Given the description of an element on the screen output the (x, y) to click on. 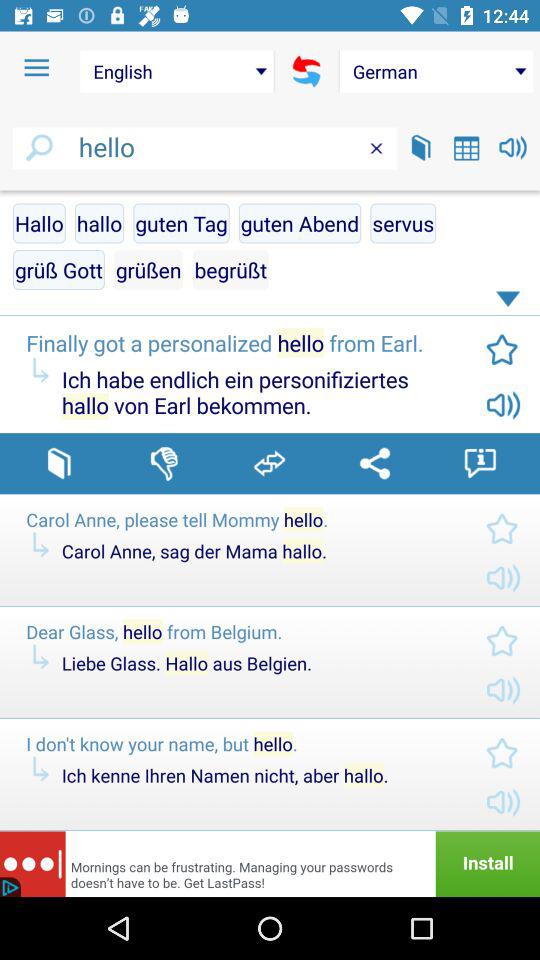
switch sound option (512, 147)
